Given the description of an element on the screen output the (x, y) to click on. 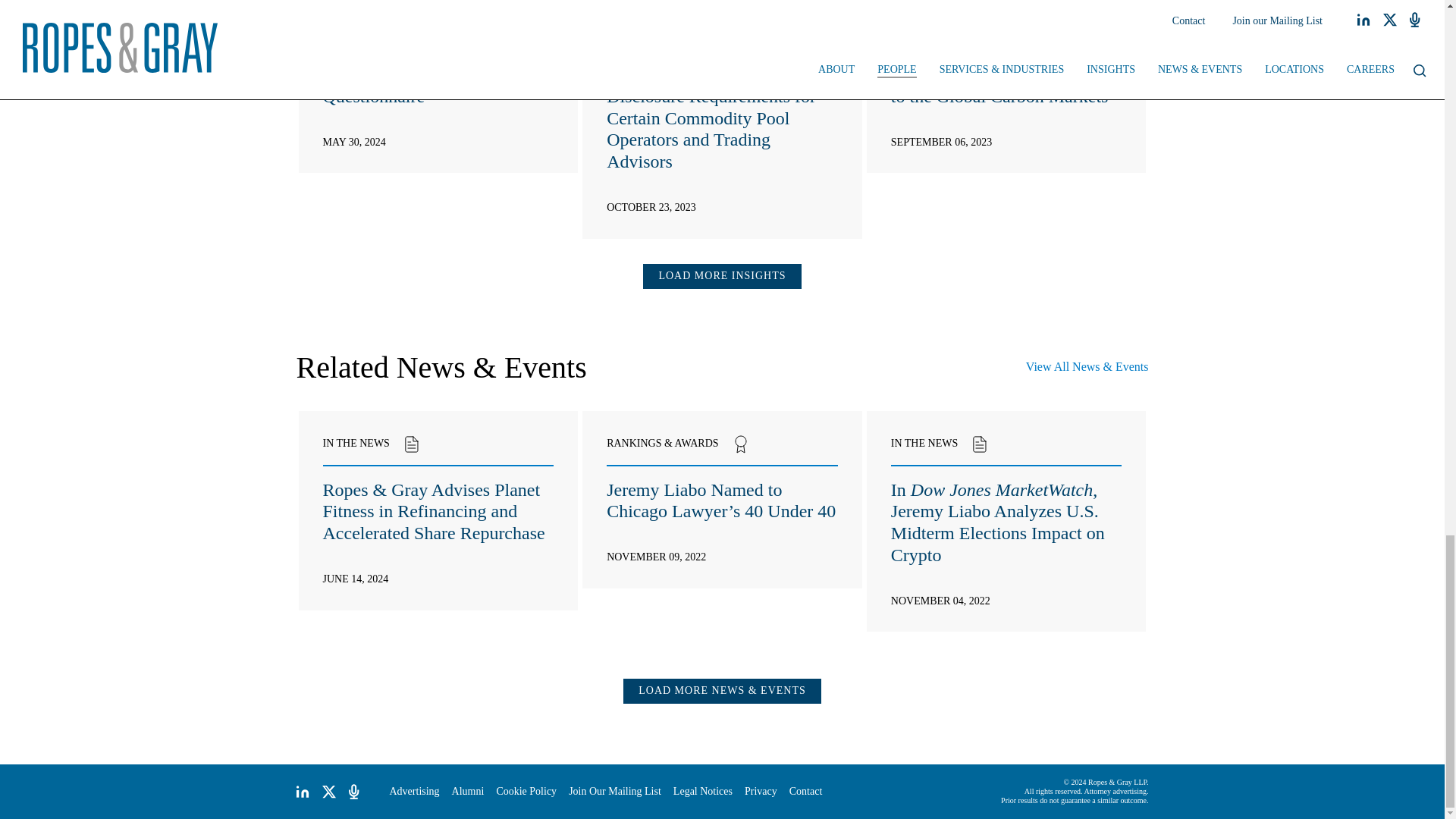
linkedin (301, 791)
x (328, 791)
